Given the description of an element on the screen output the (x, y) to click on. 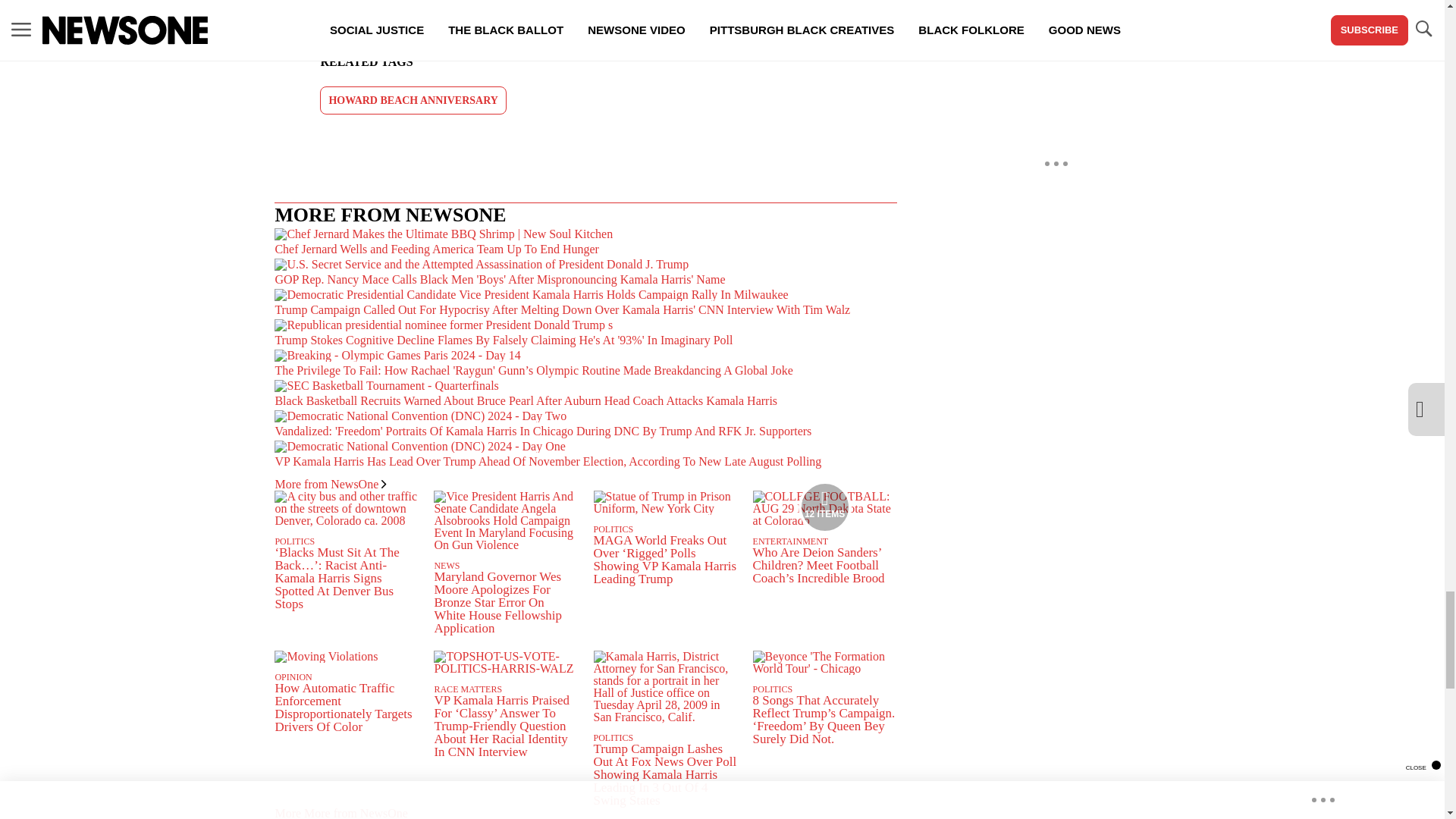
HOWARD BEACH ANNIVERSARY (413, 100)
Chef Jernard Wells and Feeding America Team Up To End Hunger (585, 243)
More from NewsOne (330, 483)
Media Playlist (824, 506)
